Given the description of an element on the screen output the (x, y) to click on. 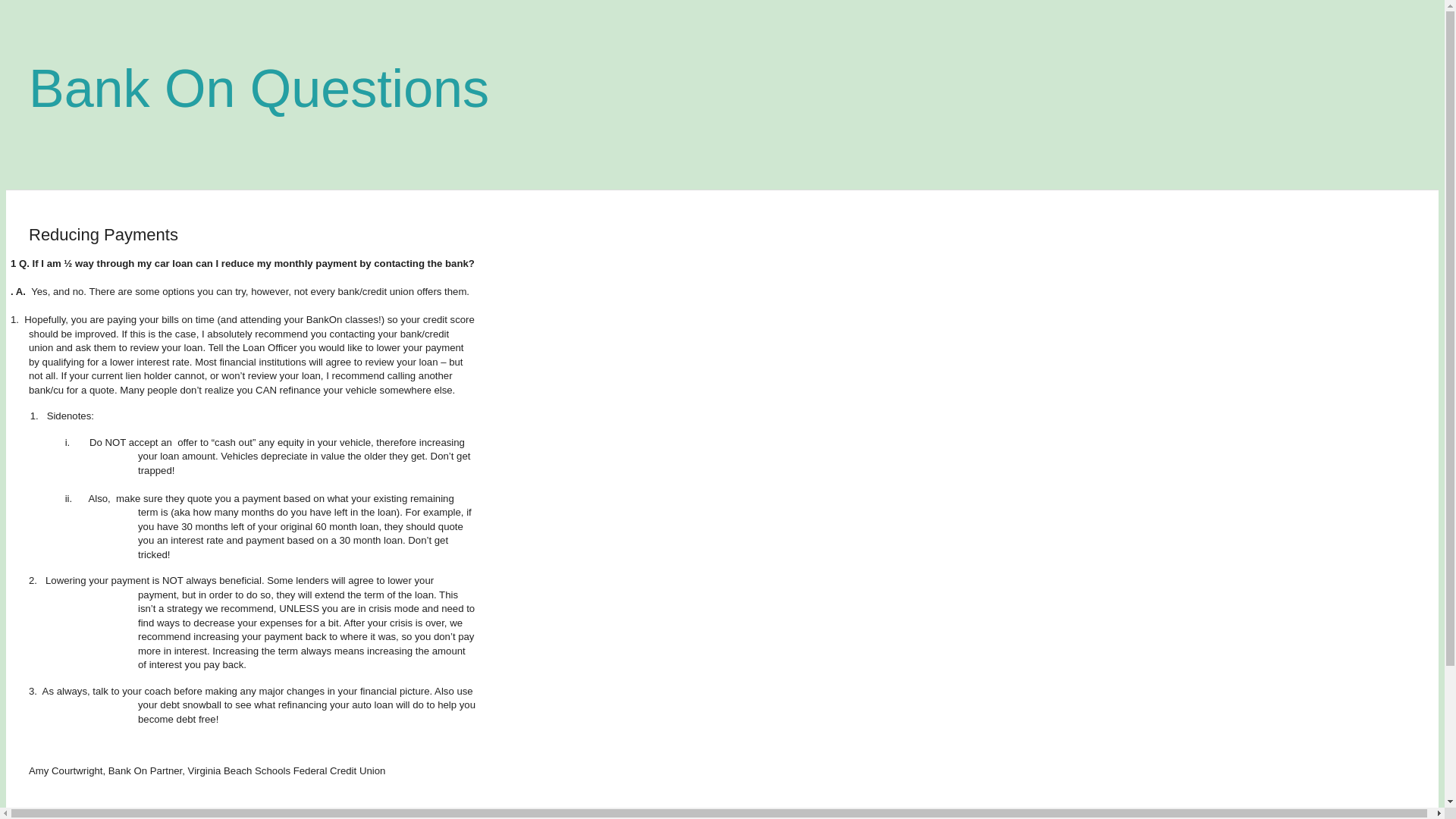
Bank On Questions (259, 87)
